Given the description of an element on the screen output the (x, y) to click on. 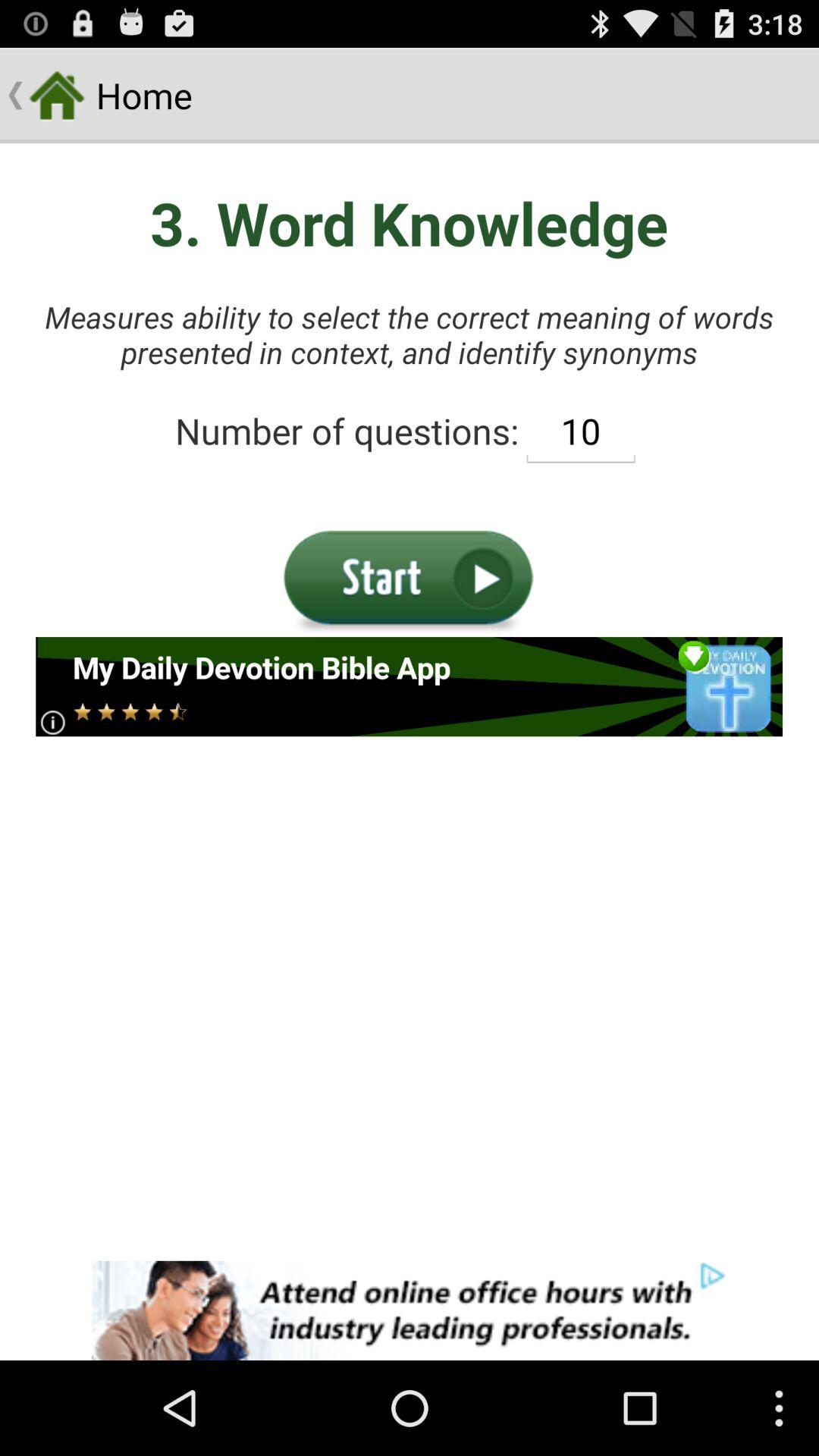
for attending online with industry leading professionals (409, 1310)
